Given the description of an element on the screen output the (x, y) to click on. 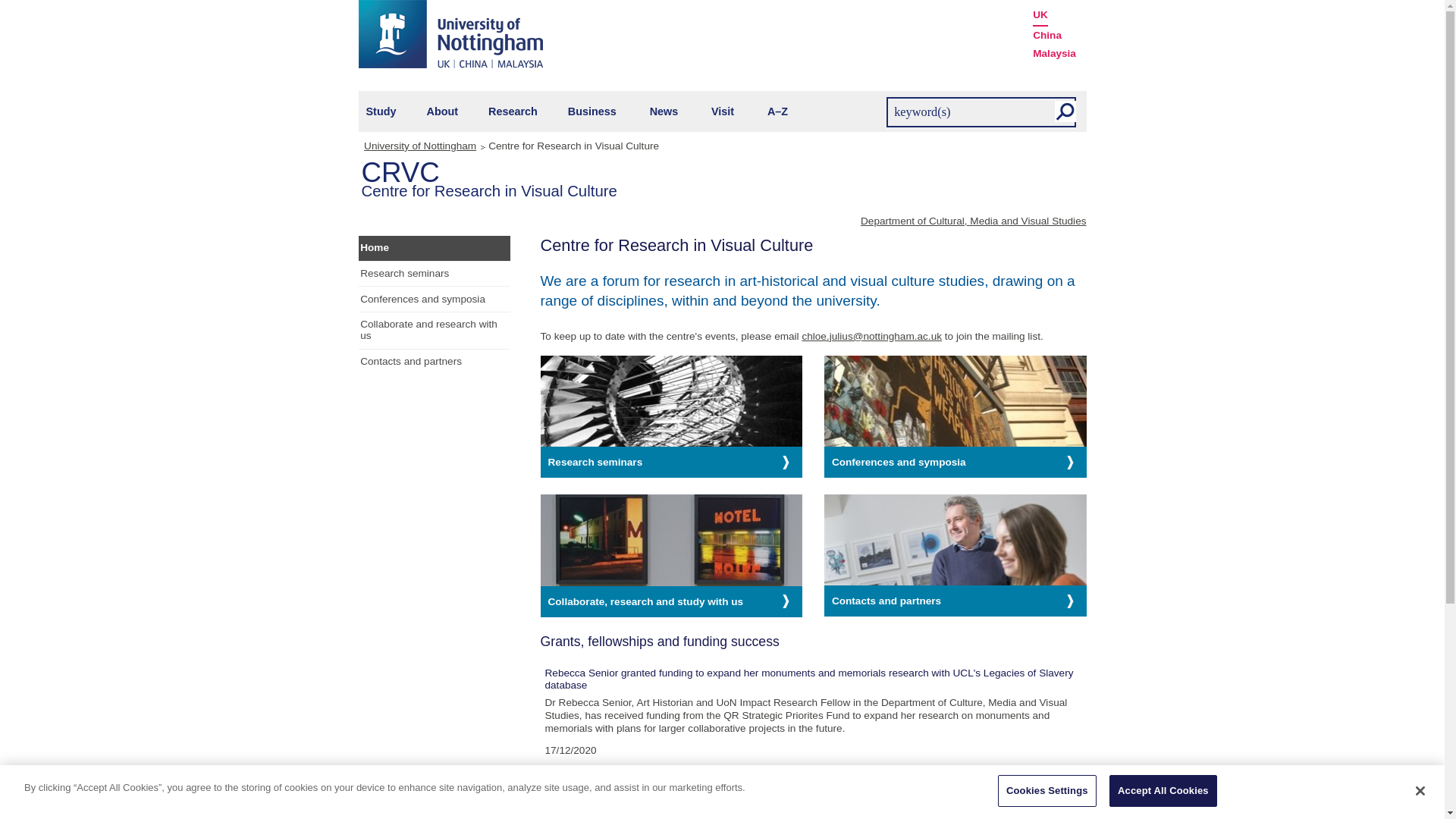
Research seminars (671, 461)
Department of Cultural, Media and Visual Studies (973, 220)
Go to Research seminars from here (433, 273)
Home (433, 248)
Contacts and partners (433, 361)
Go to Collaborate and research with us from here (433, 330)
News (663, 110)
University of Nottingham (449, 33)
Go to Conferences and symposia from here (433, 299)
GO (1064, 111)
Visit (722, 110)
Study with us (380, 110)
Working with business (592, 110)
Malaysia (1053, 54)
Conferences and symposia (955, 461)
